Given the description of an element on the screen output the (x, y) to click on. 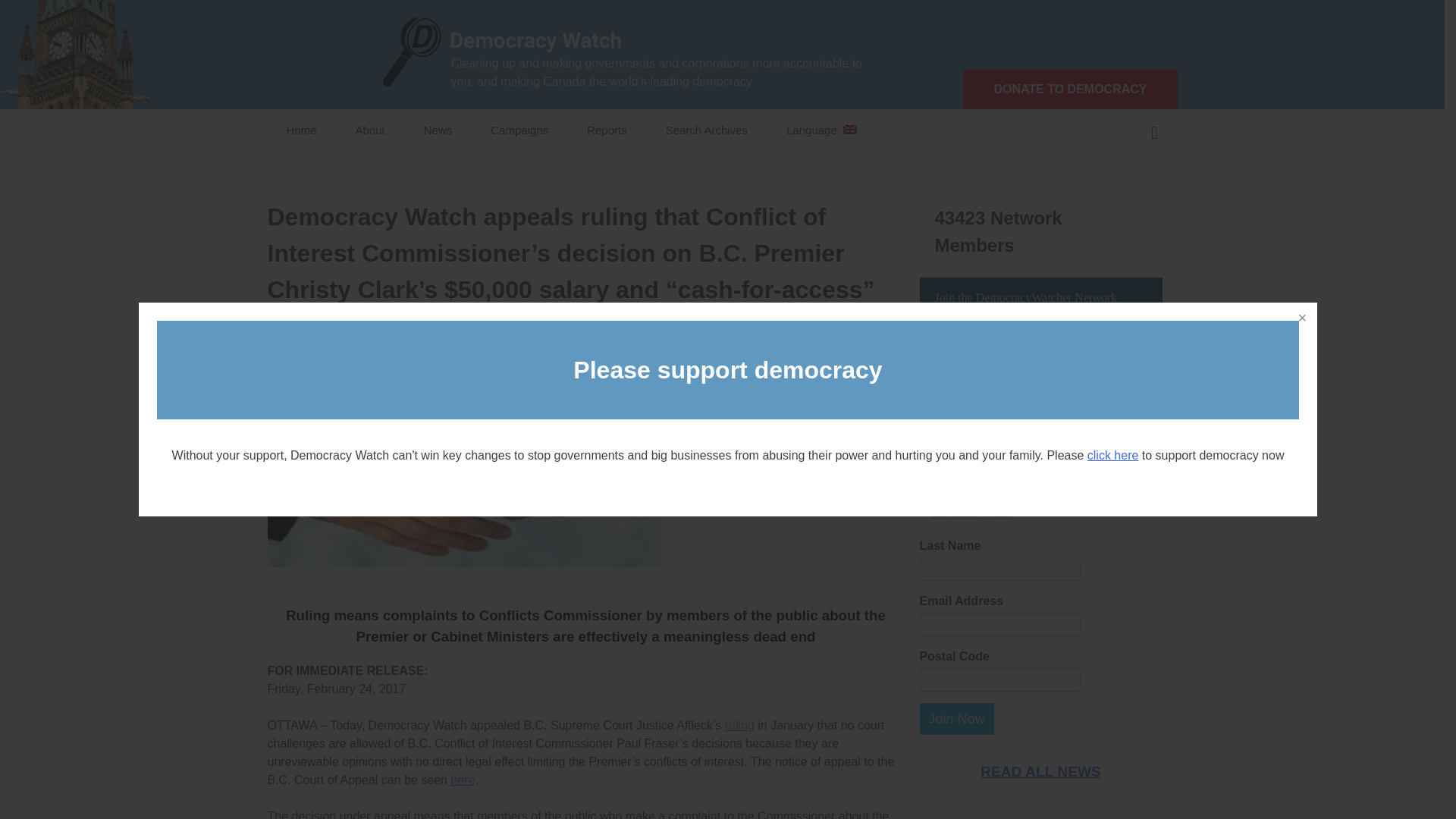
Language:  (821, 130)
here (461, 779)
DONATE TO DEMOCRACY (1069, 88)
READ ALL NEWS (1039, 771)
Search (1153, 130)
Bradford (415, 355)
our privacy policy (972, 511)
Search Archives (706, 130)
ruling (739, 725)
Reports (606, 130)
1 (923, 412)
About (370, 130)
February 24, 2017 (348, 355)
News (437, 130)
Close (1300, 318)
